Given the description of an element on the screen output the (x, y) to click on. 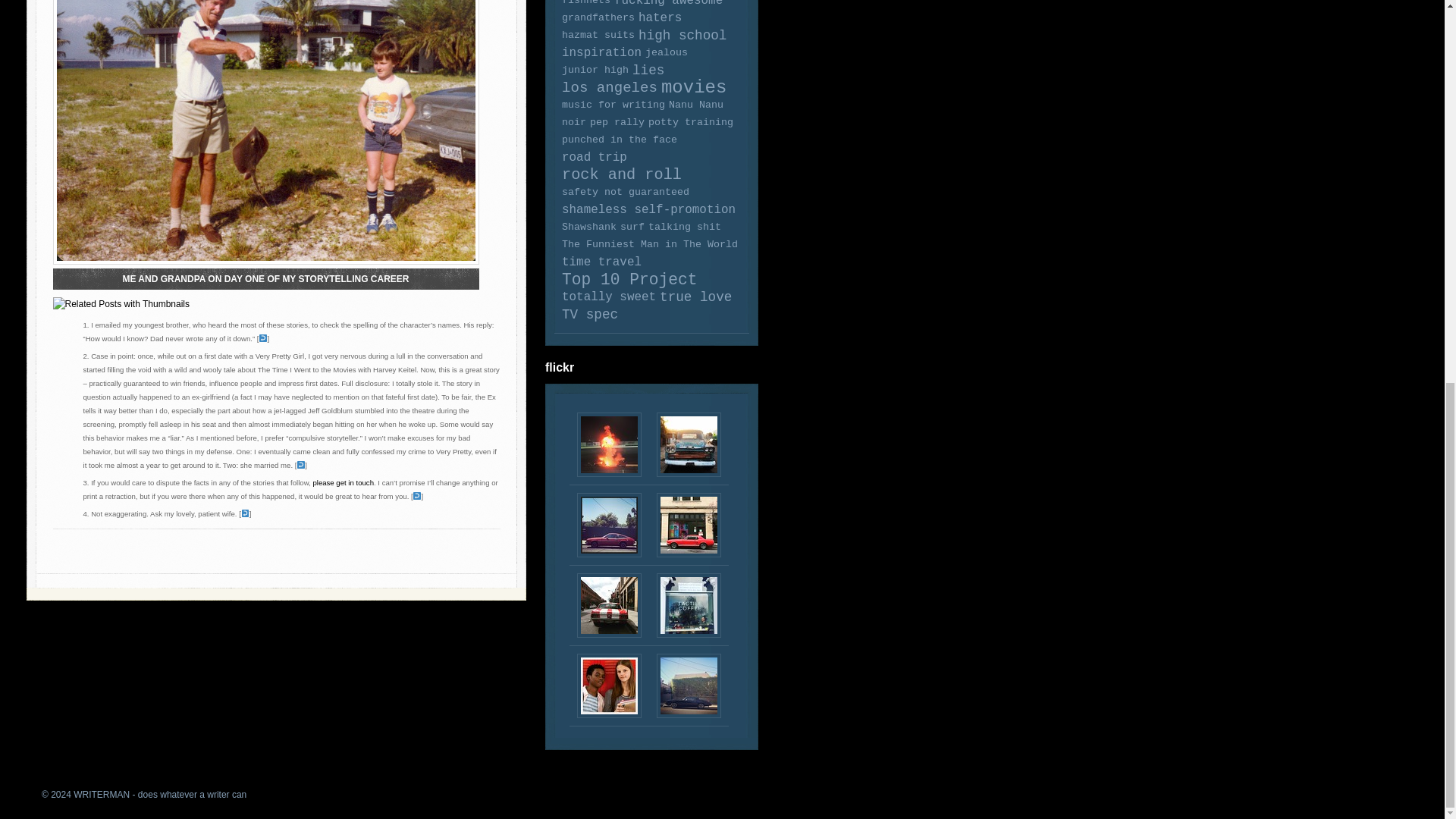
please get in touch (343, 482)
April 28, 2018 at 08:47PM (609, 444)
